Given the description of an element on the screen output the (x, y) to click on. 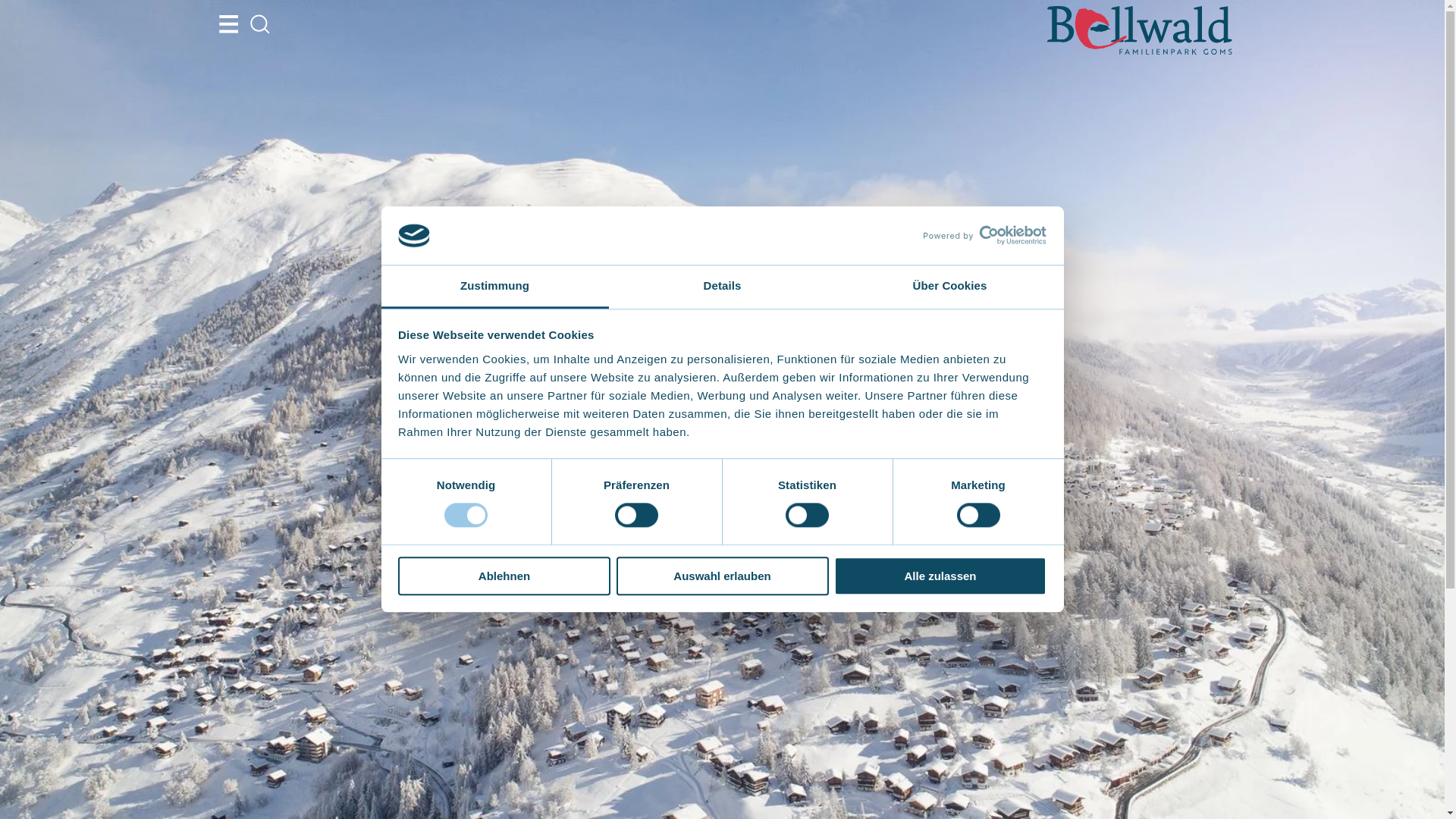
Auswahl erlauben Element type: text (721, 575)
Zustimmung Element type: text (494, 286)
Details Element type: text (721, 286)
Alle zulassen Element type: text (940, 575)
Ablehnen Element type: text (504, 575)
Suche Element type: hover (260, 24)
